Given the description of an element on the screen output the (x, y) to click on. 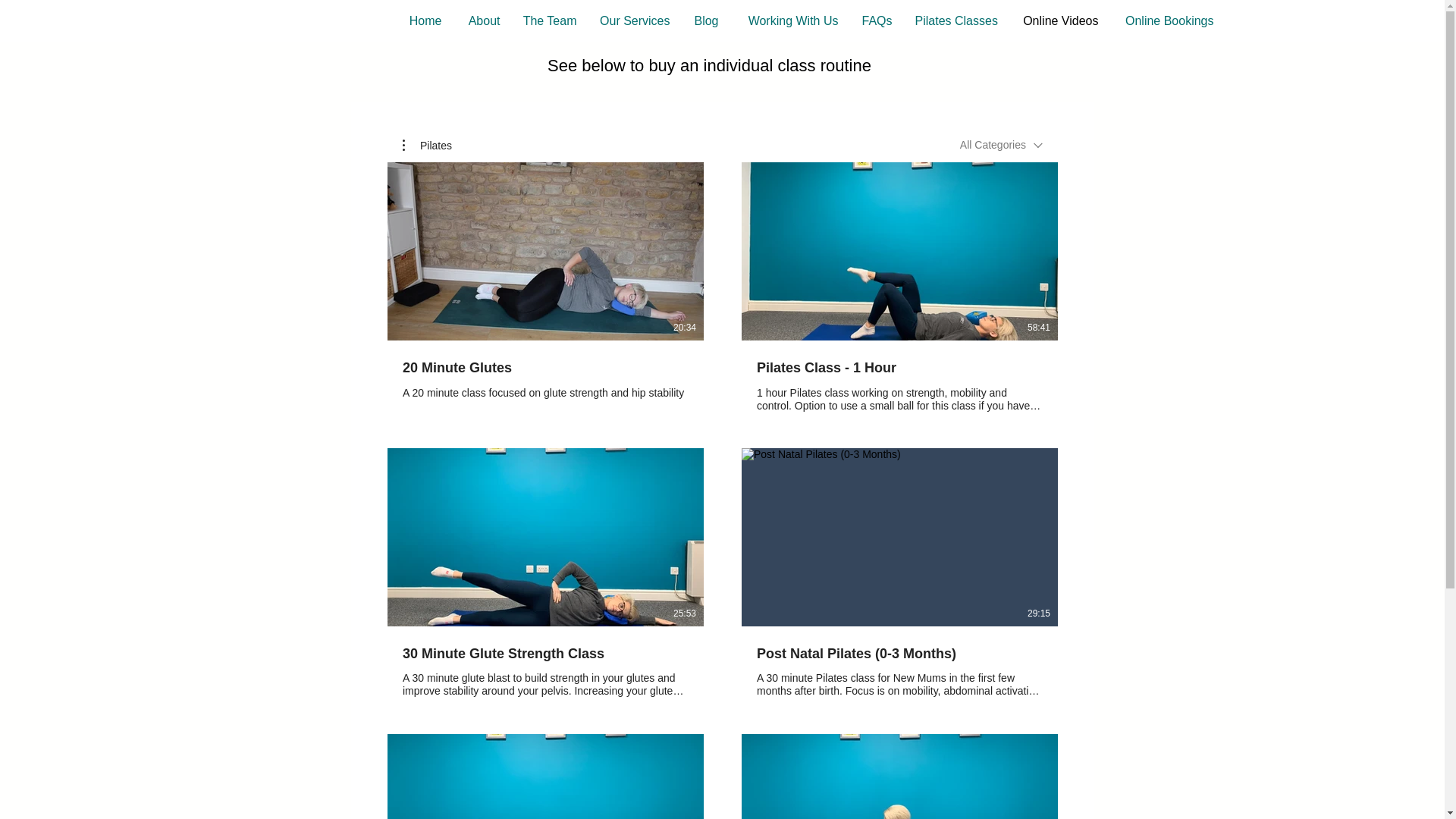
The Team (549, 21)
Working With Us (788, 21)
About (482, 21)
30 Minute Glute Strength Class (544, 654)
Pilates Classes (956, 21)
20 Minute Glutes (544, 368)
Home (424, 21)
Pilates Class - 1 Hour (899, 368)
